Given the description of an element on the screen output the (x, y) to click on. 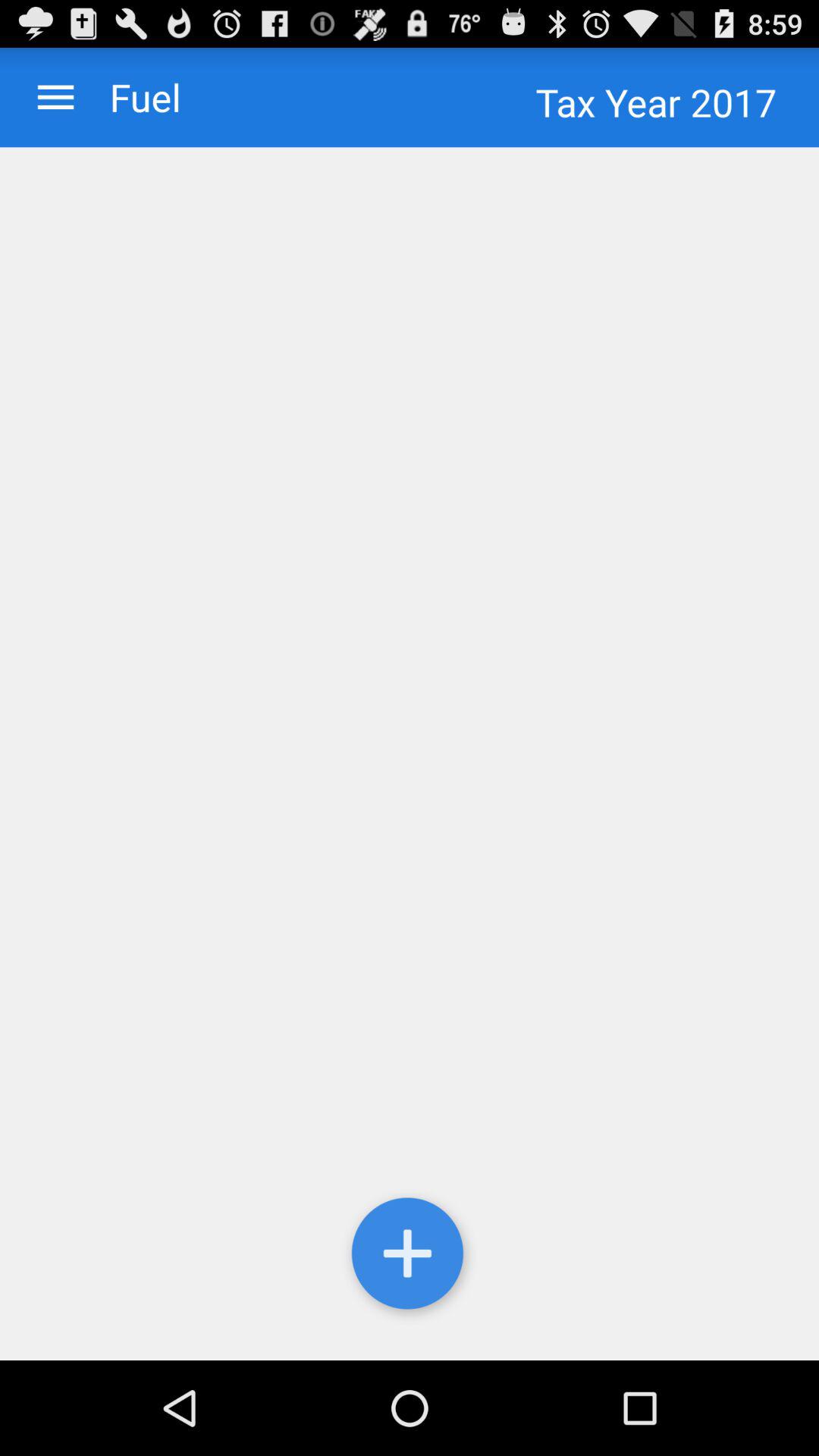
open the item at the center (409, 753)
